Given the description of an element on the screen output the (x, y) to click on. 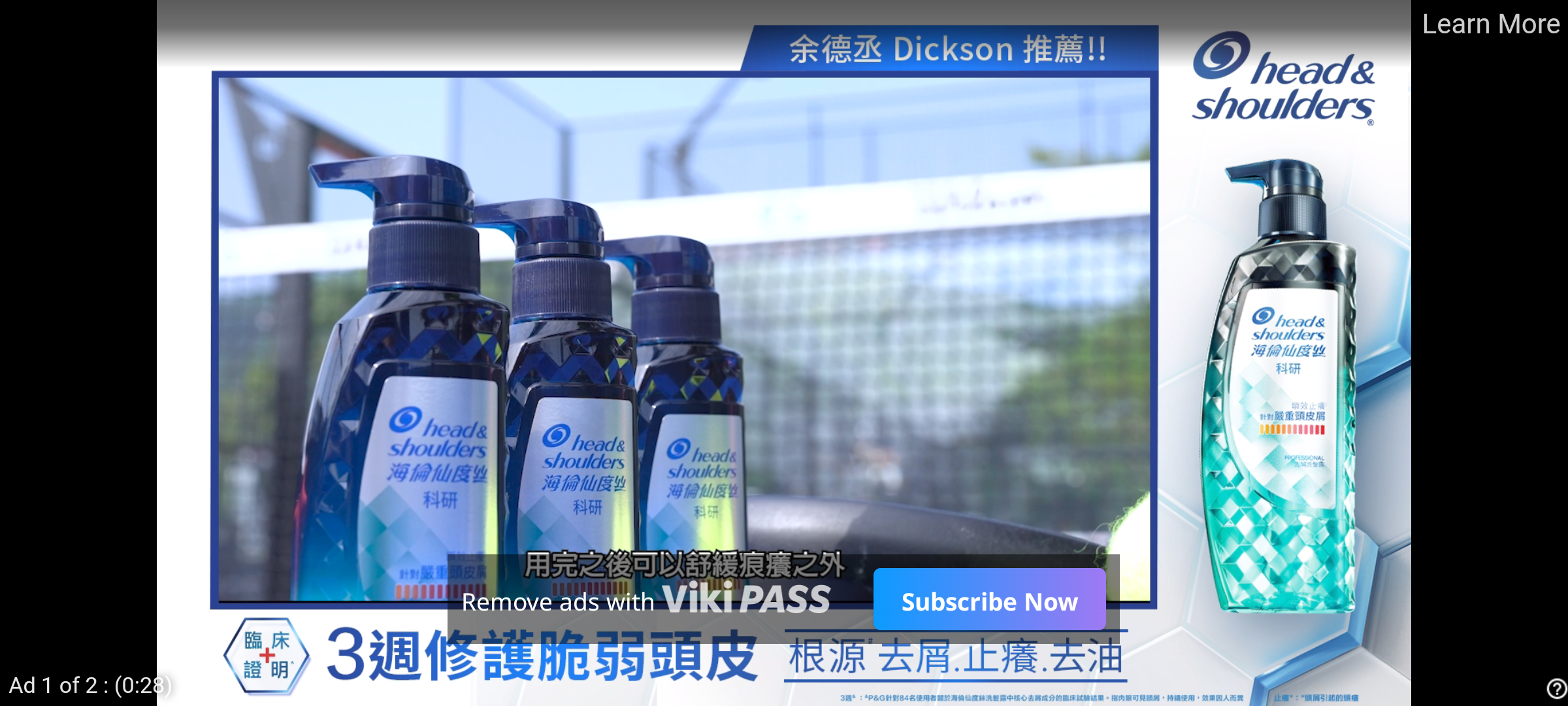
Learn More (1490, 24)
Subscribe Now (989, 599)
Ad 1 of 2 : (0:28) (90, 684)
help_outline_white_24dp_with_3px_trbl_padding (1553, 688)
